Given the description of an element on the screen output the (x, y) to click on. 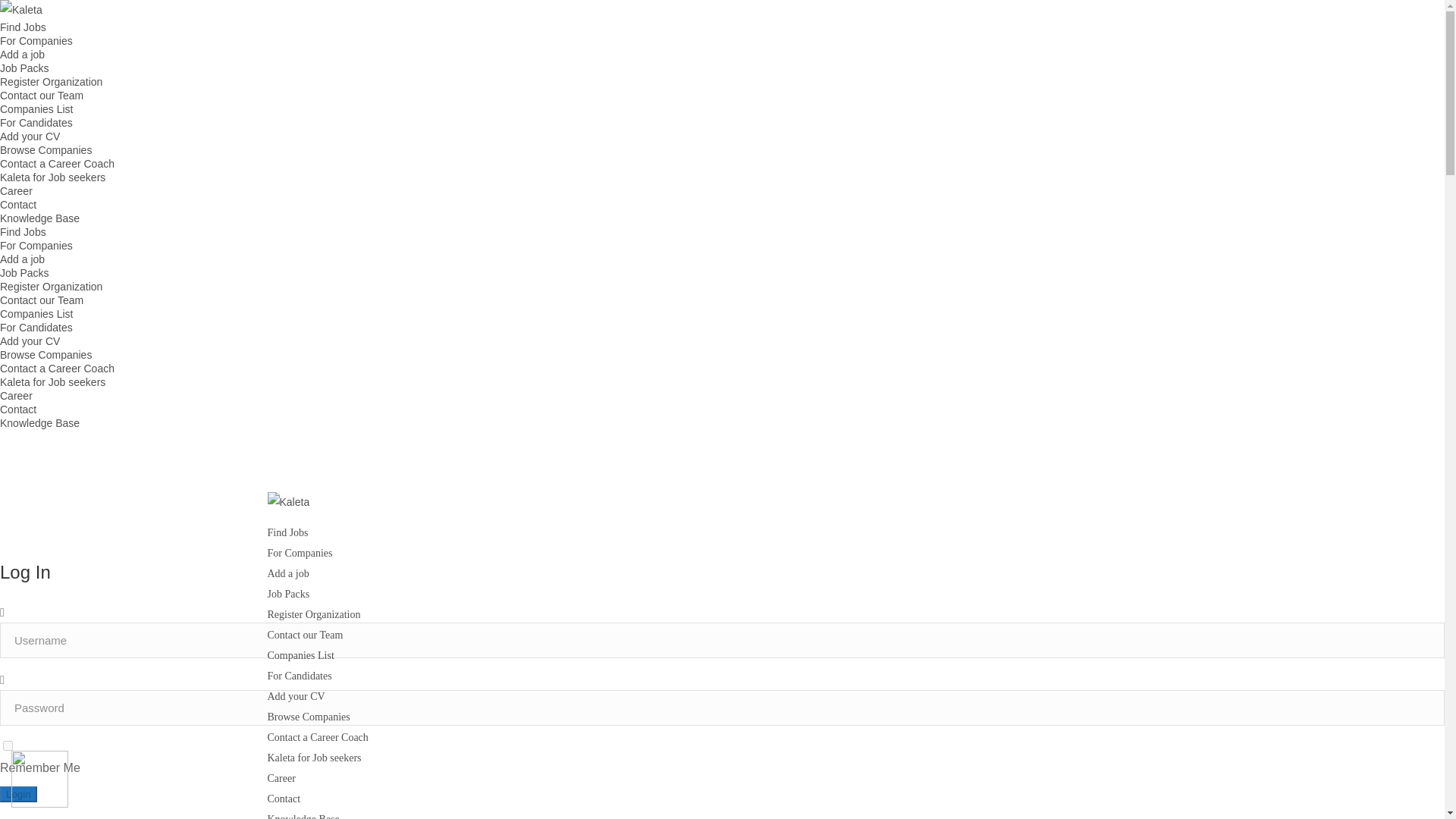
Browse Companies (45, 354)
For Candidates (36, 327)
For Companies (36, 245)
Find Jobs (286, 532)
Contact our Team (41, 95)
For Companies (298, 552)
Add Organization (50, 81)
Add your CV (29, 340)
Career (16, 191)
Kaleta (721, 507)
